Given the description of an element on the screen output the (x, y) to click on. 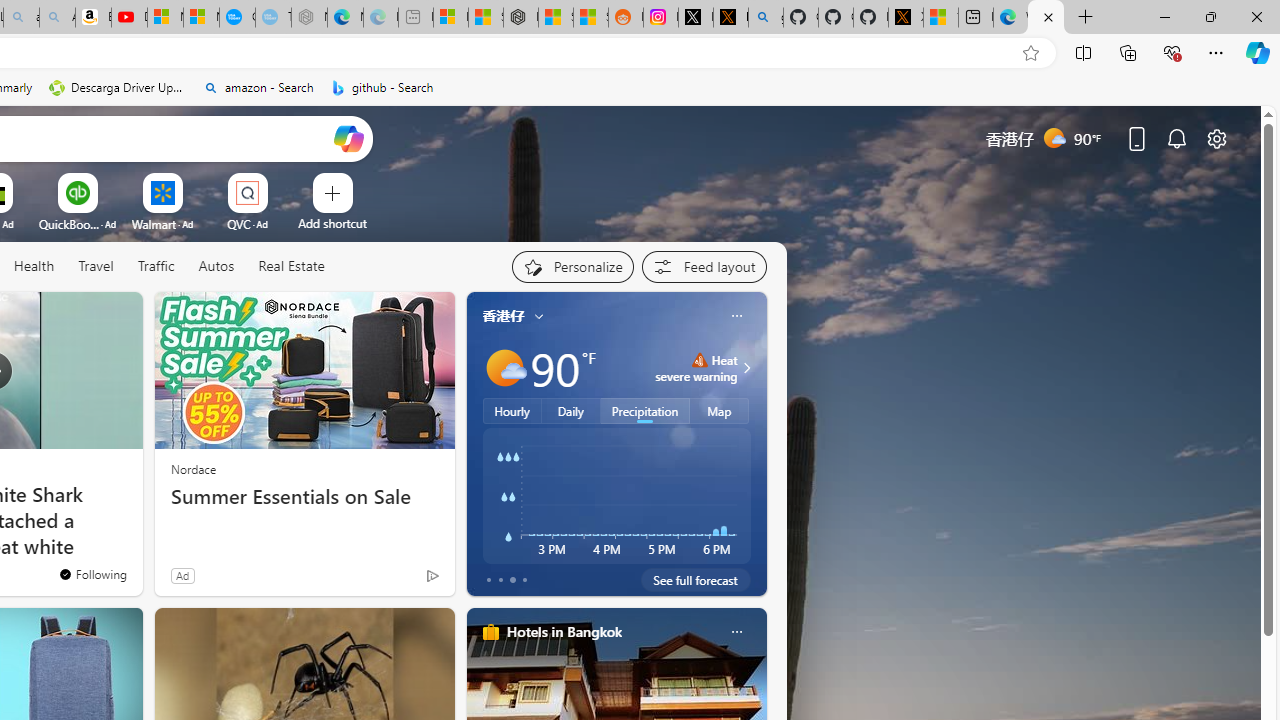
Mostly sunny (504, 368)
See full forecast (695, 579)
Welcome to Microsoft Edge (1010, 17)
Opinion: Op-Ed and Commentary - USA TODAY (237, 17)
github - Search (381, 88)
